Given the description of an element on the screen output the (x, y) to click on. 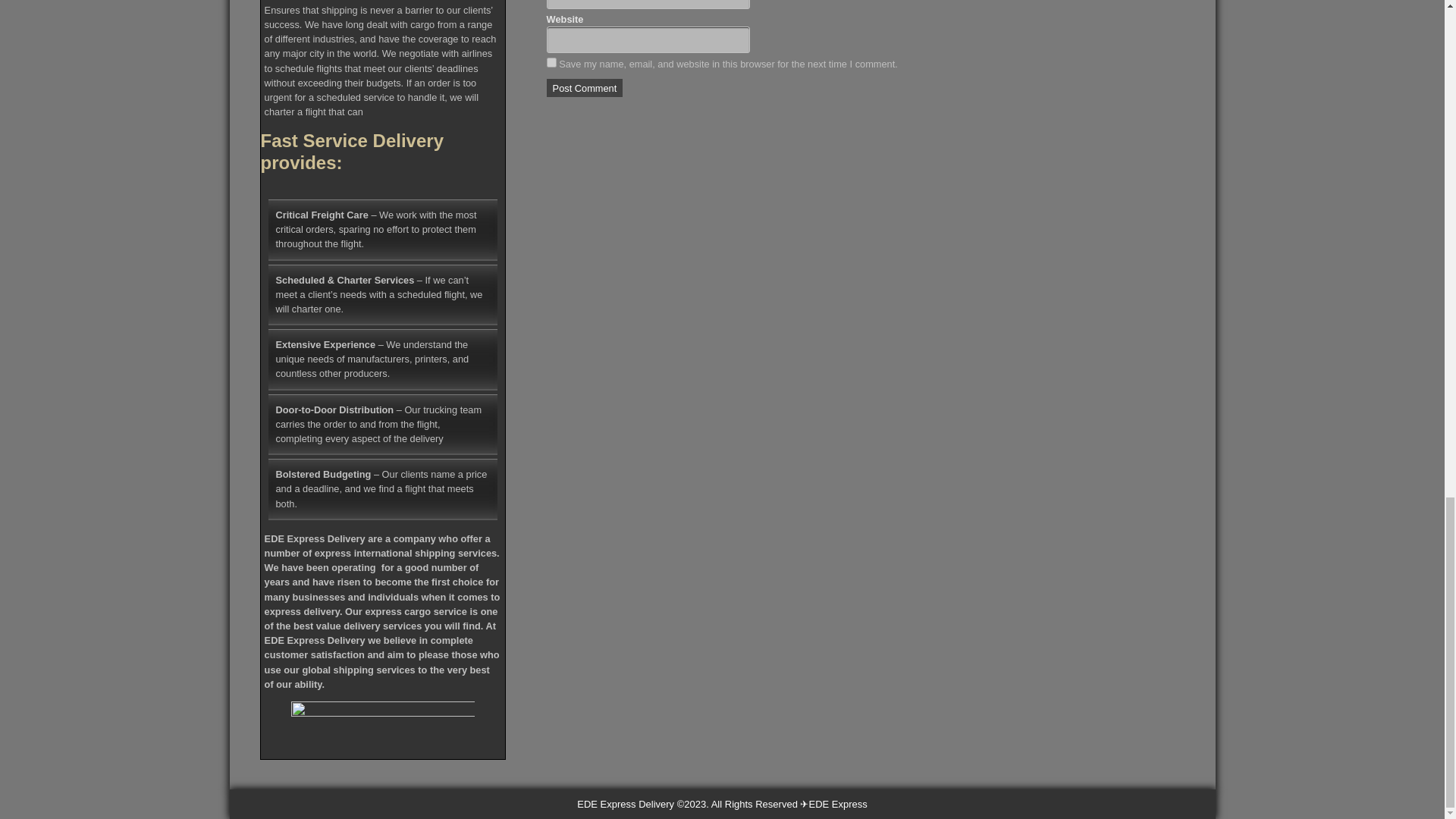
Post Comment (585, 87)
yes (551, 62)
Post Comment (585, 87)
